Given the description of an element on the screen output the (x, y) to click on. 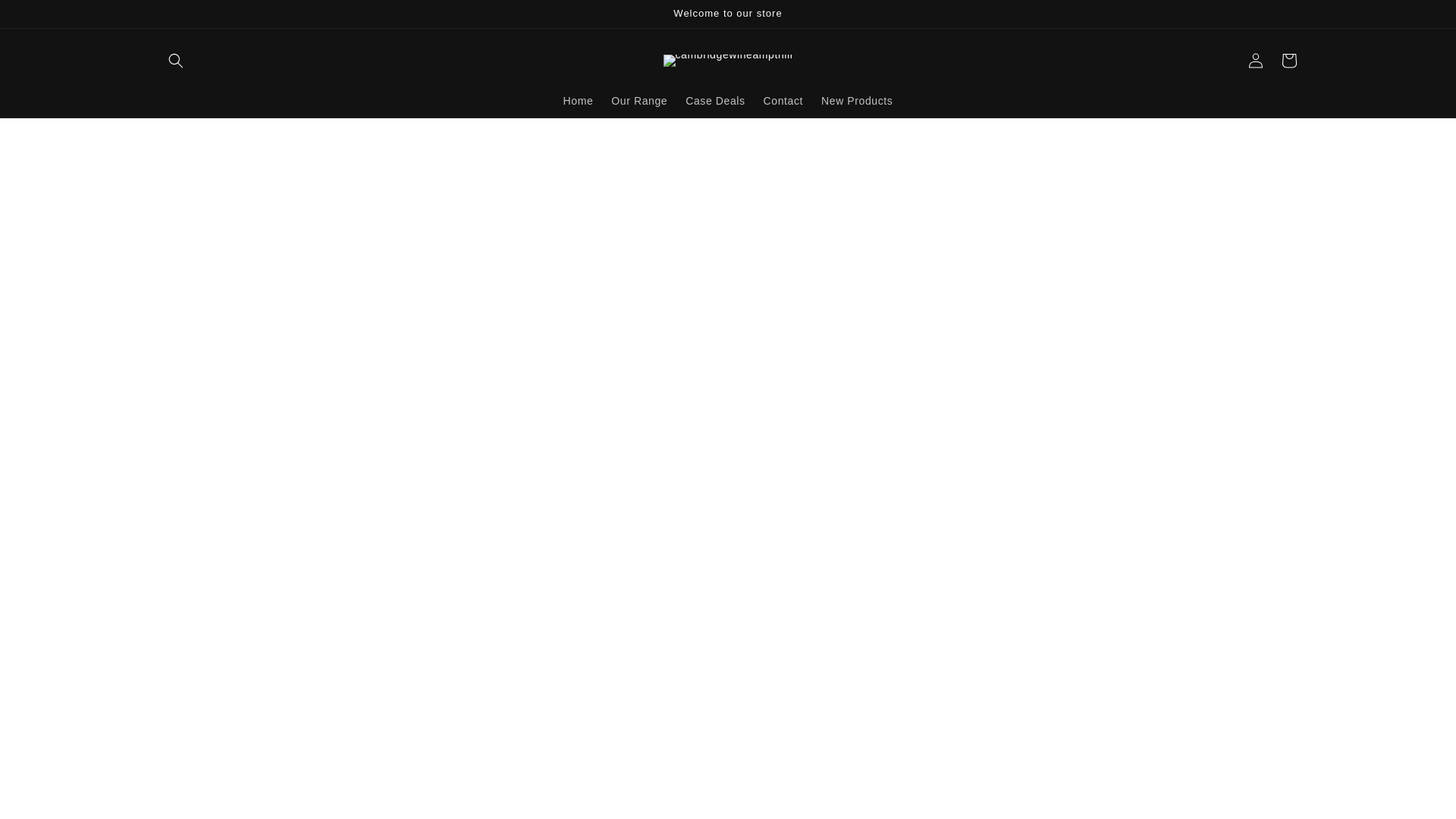
Contact (783, 101)
Home (578, 101)
Our Range (639, 101)
Skip to content (45, 16)
Case Deals (715, 101)
Cart (1289, 60)
Log in (1255, 60)
New Products (856, 101)
